Given the description of an element on the screen output the (x, y) to click on. 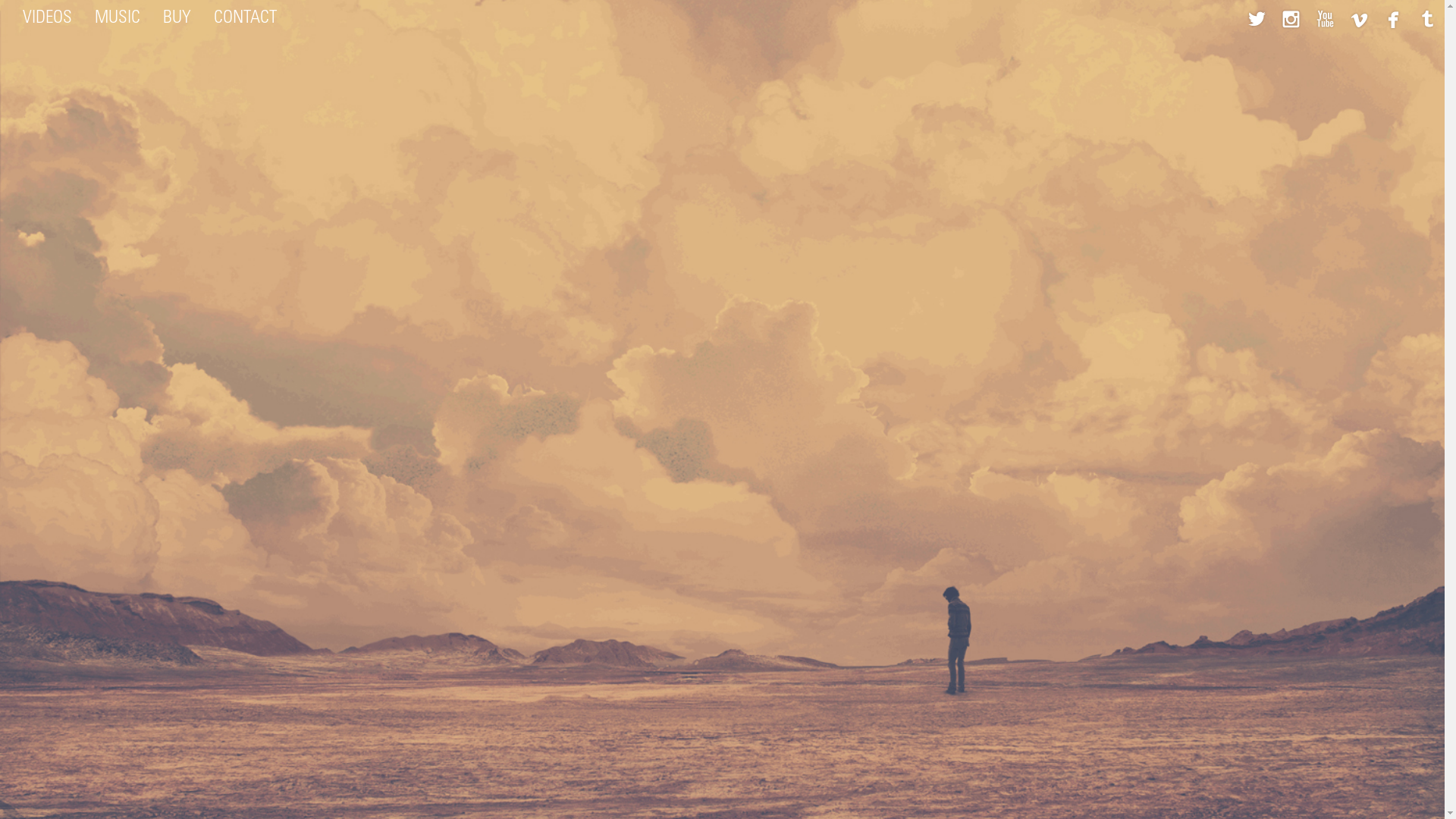
VIDEOS Element type: text (47, 18)
CONTACT Element type: text (245, 18)
BUY Element type: text (176, 18)
MUSIC Element type: text (117, 18)
